Given the description of an element on the screen output the (x, y) to click on. 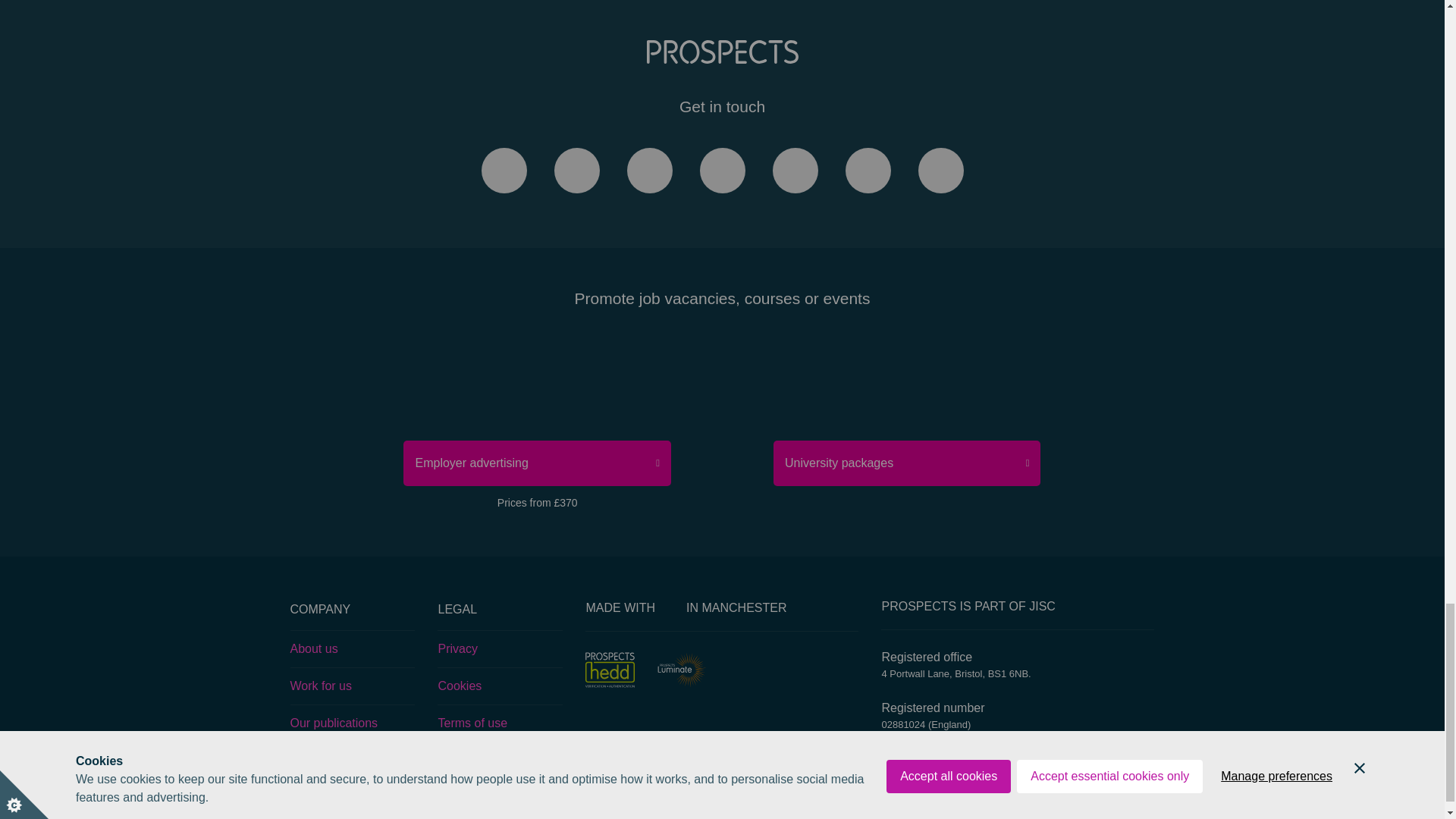
Back to top (721, 8)
